Given the description of an element on the screen output the (x, y) to click on. 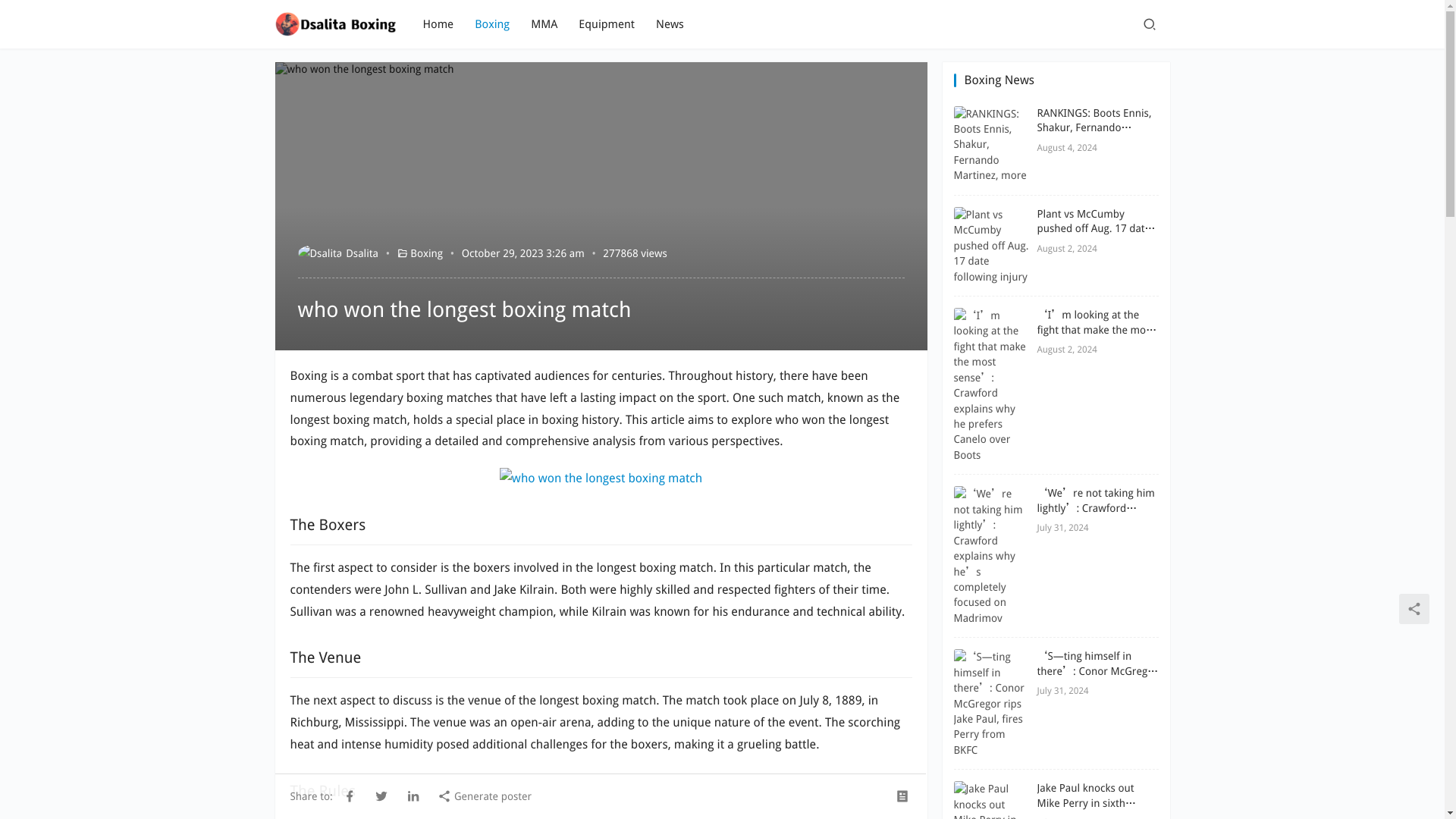
Equipment (606, 24)
Boxing (491, 24)
Boxing (426, 253)
Home (438, 24)
who won the longest boxing match (600, 478)
Dsalita (337, 253)
News (670, 24)
Generate poster (483, 795)
MMA (544, 24)
